Given the description of an element on the screen output the (x, y) to click on. 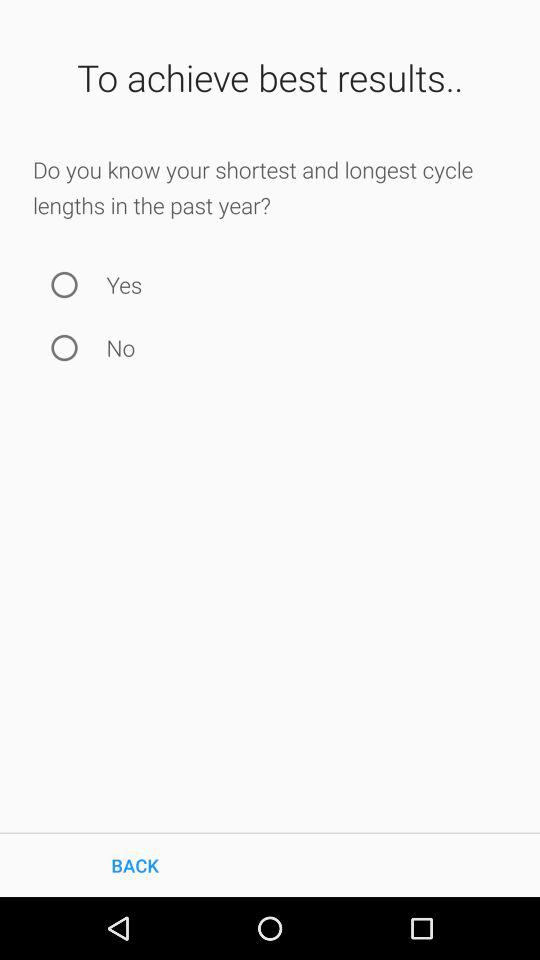
no (64, 347)
